Given the description of an element on the screen output the (x, y) to click on. 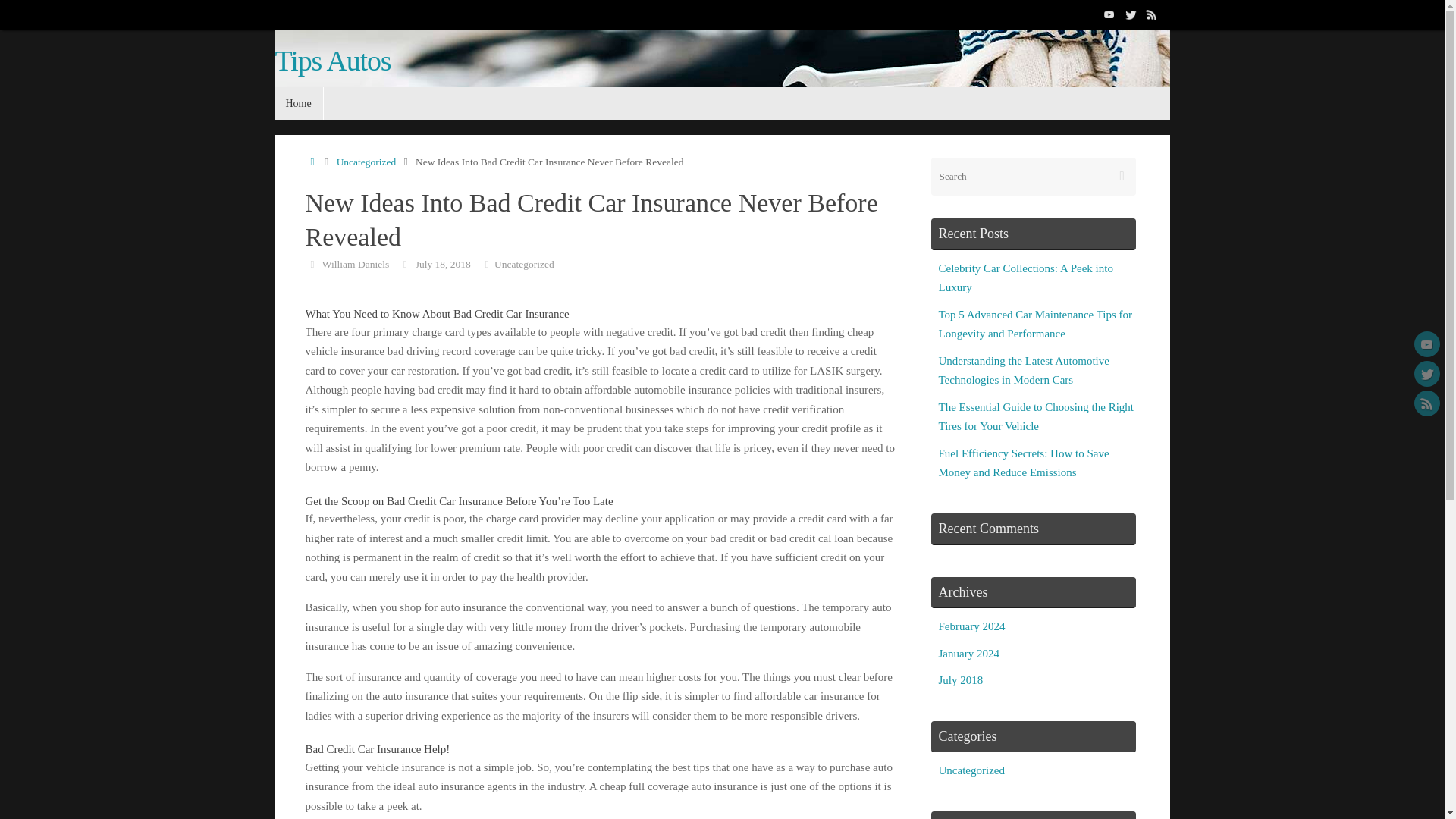
Tips Autos (759, 87)
Tips Autos (332, 60)
January 2024 (968, 653)
February 2024 (972, 625)
View all posts by William Daniels (354, 264)
Uncategorized (366, 161)
Celebrity Car Collections: A Peek into Luxury (1026, 278)
Tips Autos (332, 60)
Twitter (1129, 14)
YouTube (1426, 344)
Home (298, 102)
William Daniels (354, 264)
